Given the description of an element on the screen output the (x, y) to click on. 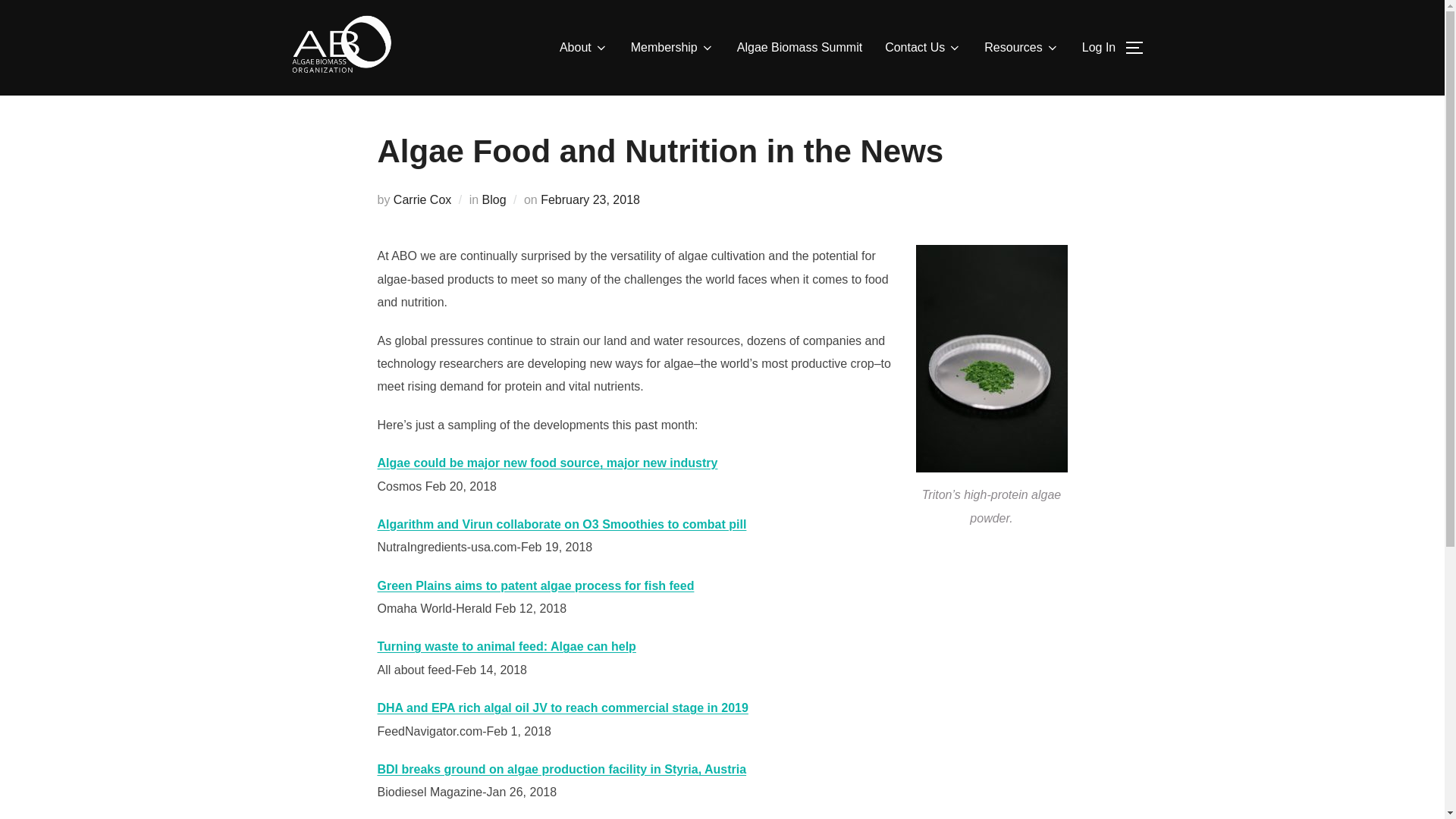
Carrie Cox (422, 199)
Contact Us (922, 47)
Algae Biomass Summit (798, 47)
Resources (1021, 47)
Log In (1098, 47)
About (583, 47)
Membership (672, 47)
